Given the description of an element on the screen output the (x, y) to click on. 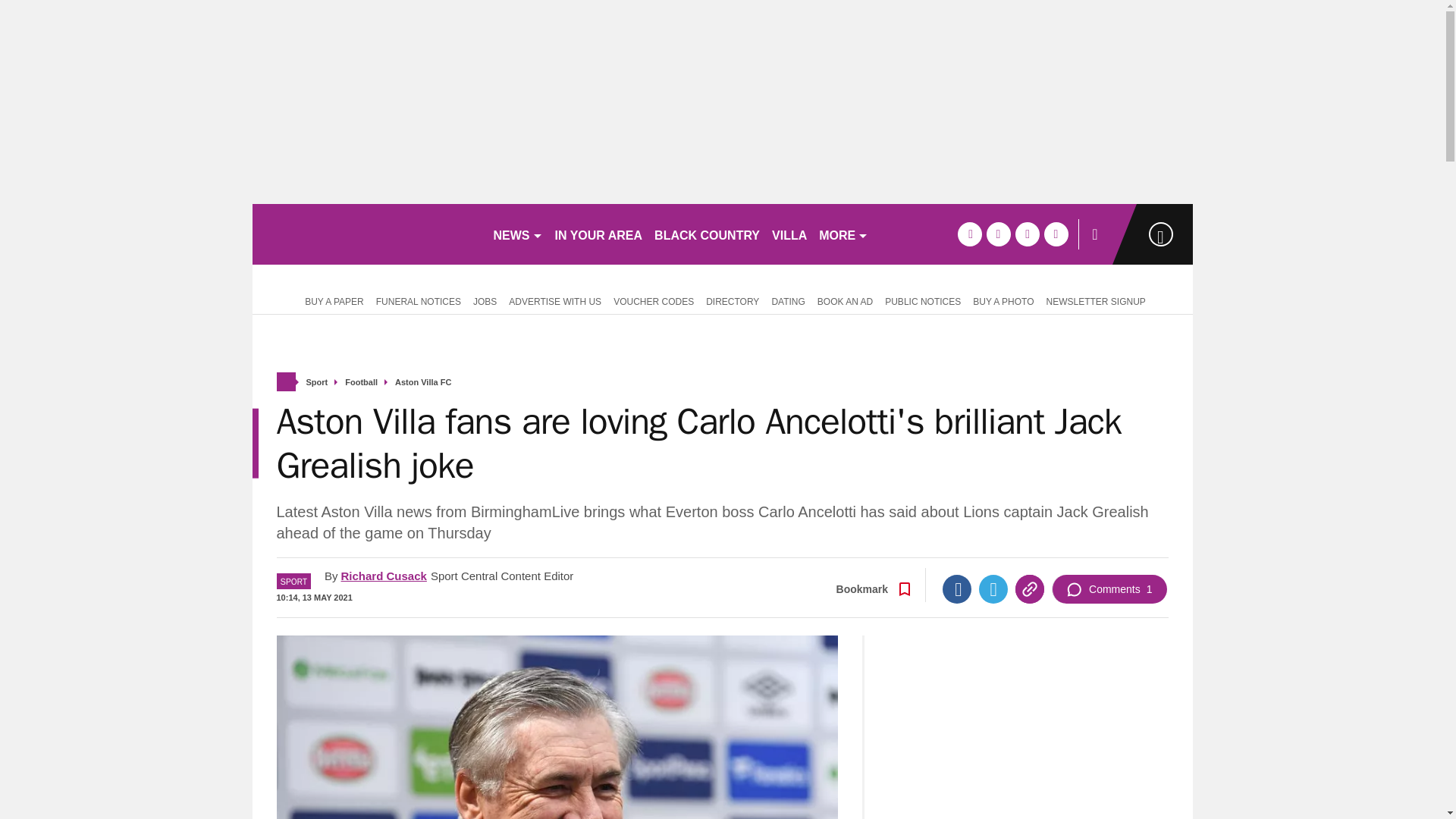
NEWS (517, 233)
facebook (968, 233)
Facebook (956, 588)
Comments (1108, 588)
Twitter (992, 588)
twitter (997, 233)
instagram (1055, 233)
tiktok (1026, 233)
MORE (843, 233)
birminghammail (365, 233)
IN YOUR AREA (598, 233)
BLACK COUNTRY (706, 233)
